Given the description of an element on the screen output the (x, y) to click on. 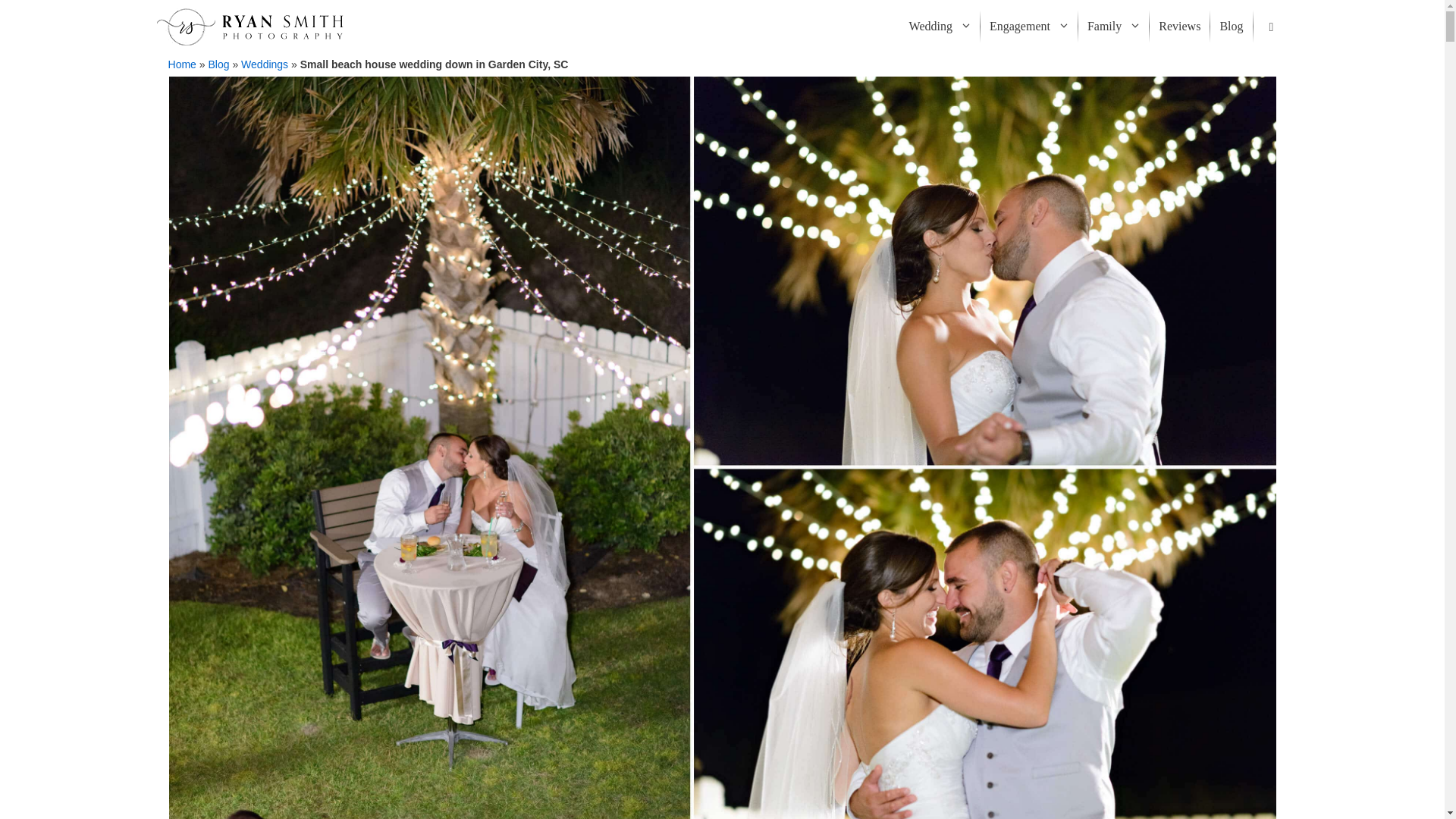
Weddings (264, 64)
Wedding Photography prices, galleries and more (939, 26)
Blog (218, 64)
Ryan Smith Photography (248, 26)
Home (182, 64)
Engagement Photography (1028, 26)
Wedding (939, 26)
Engagement (1028, 26)
Family Photography (1113, 26)
Family (1113, 26)
